Given the description of an element on the screen output the (x, y) to click on. 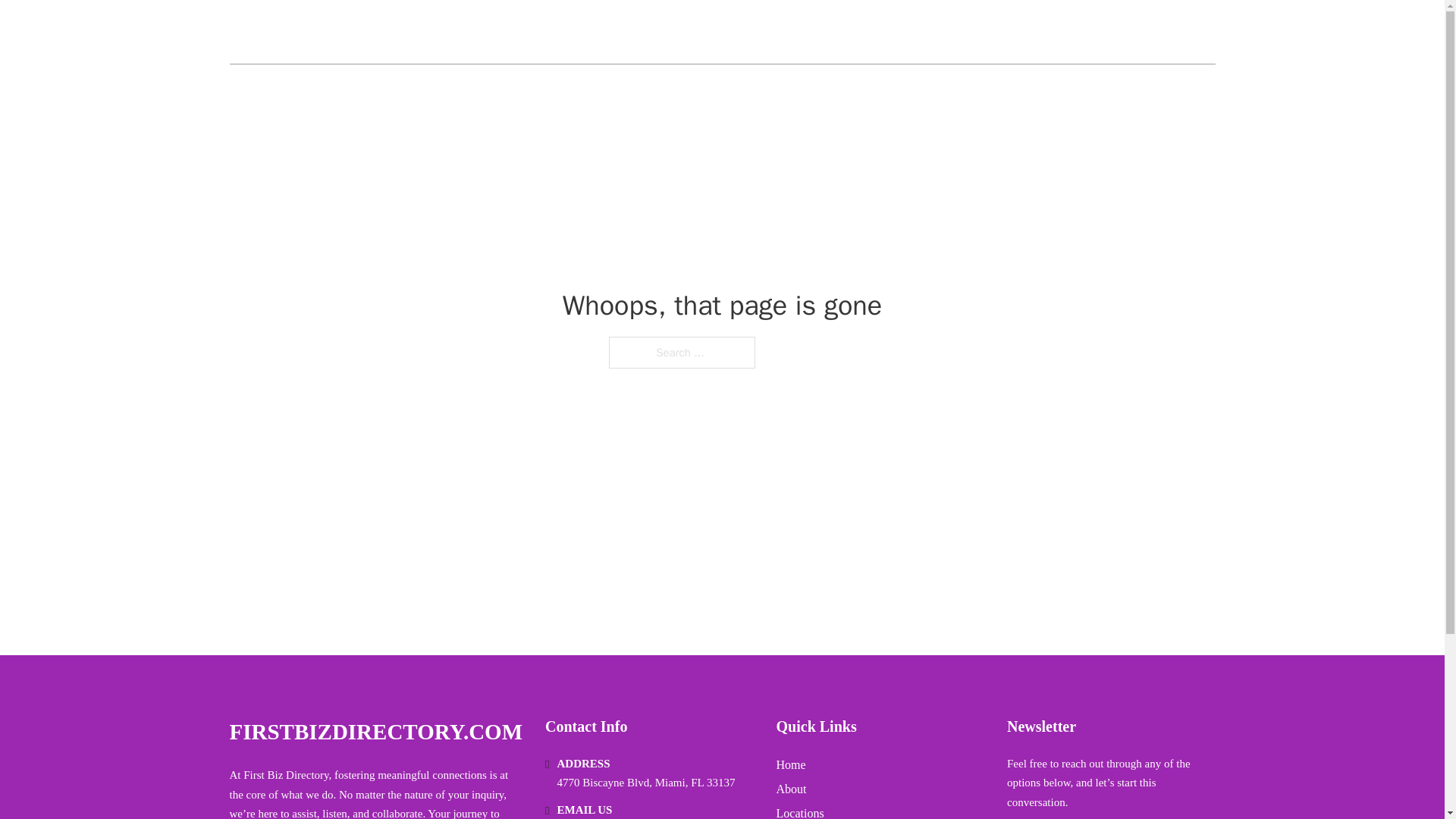
Home (791, 764)
LOCATIONS (1105, 31)
FIRSTBIZDIRECTORY.COM (390, 31)
Locations (800, 811)
HOME (1032, 31)
FIRSTBIZDIRECTORY.COM (375, 732)
About (791, 788)
